Given the description of an element on the screen output the (x, y) to click on. 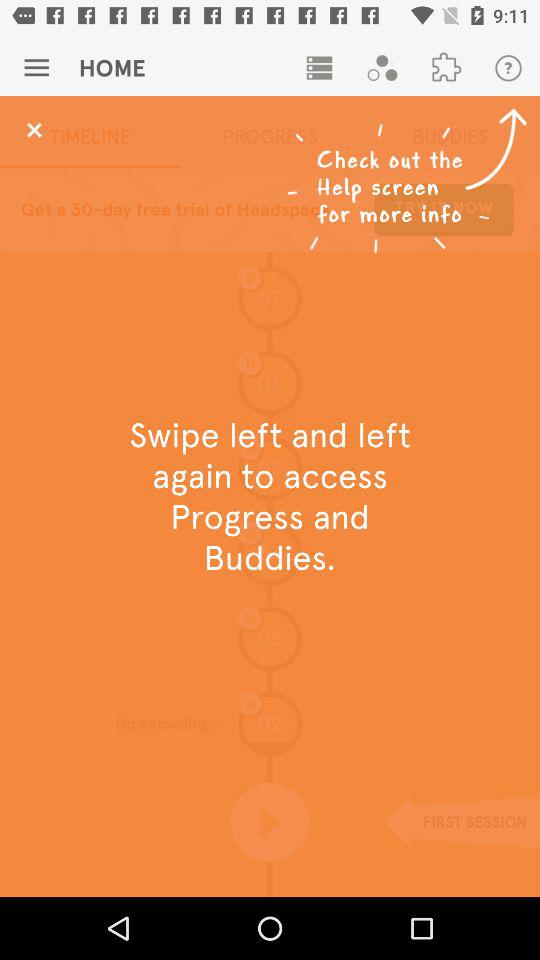
close the app (33, 129)
